Given the description of an element on the screen output the (x, y) to click on. 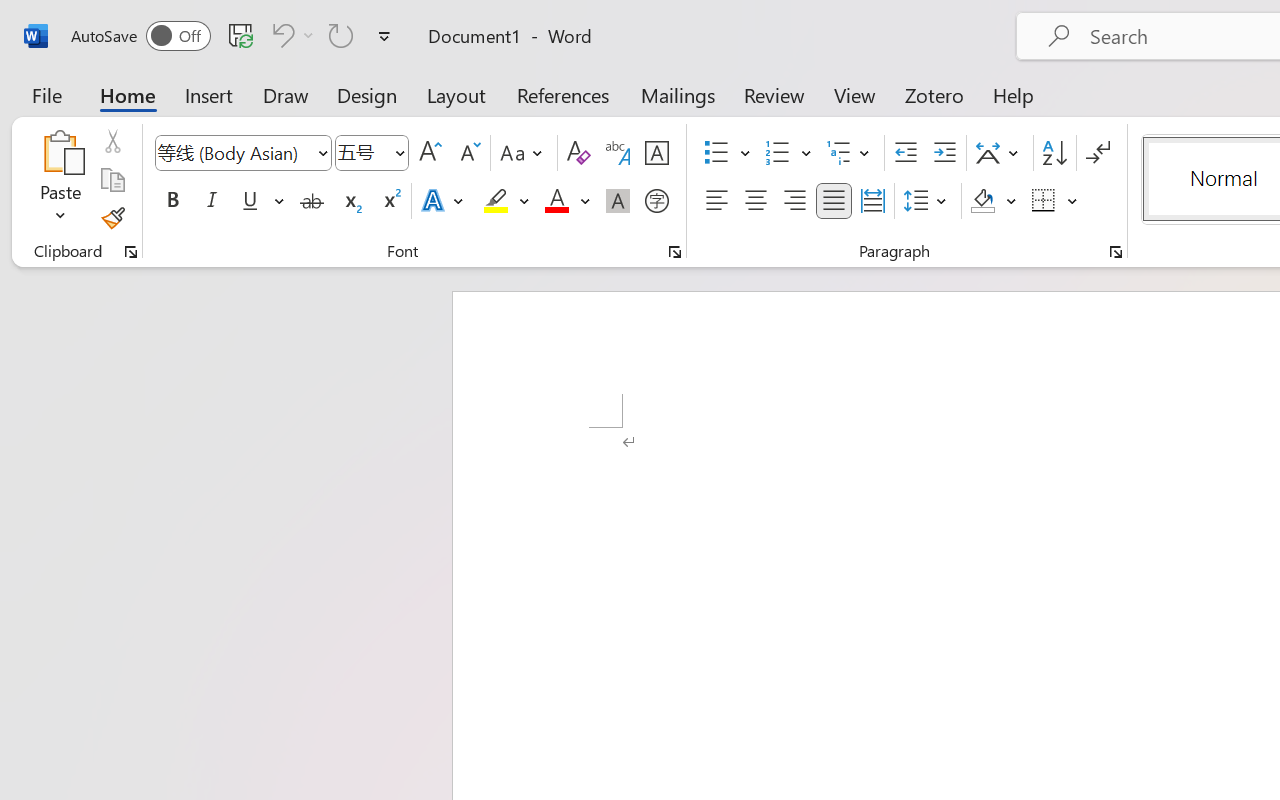
Can't Repeat (341, 35)
